Given the description of an element on the screen output the (x, y) to click on. 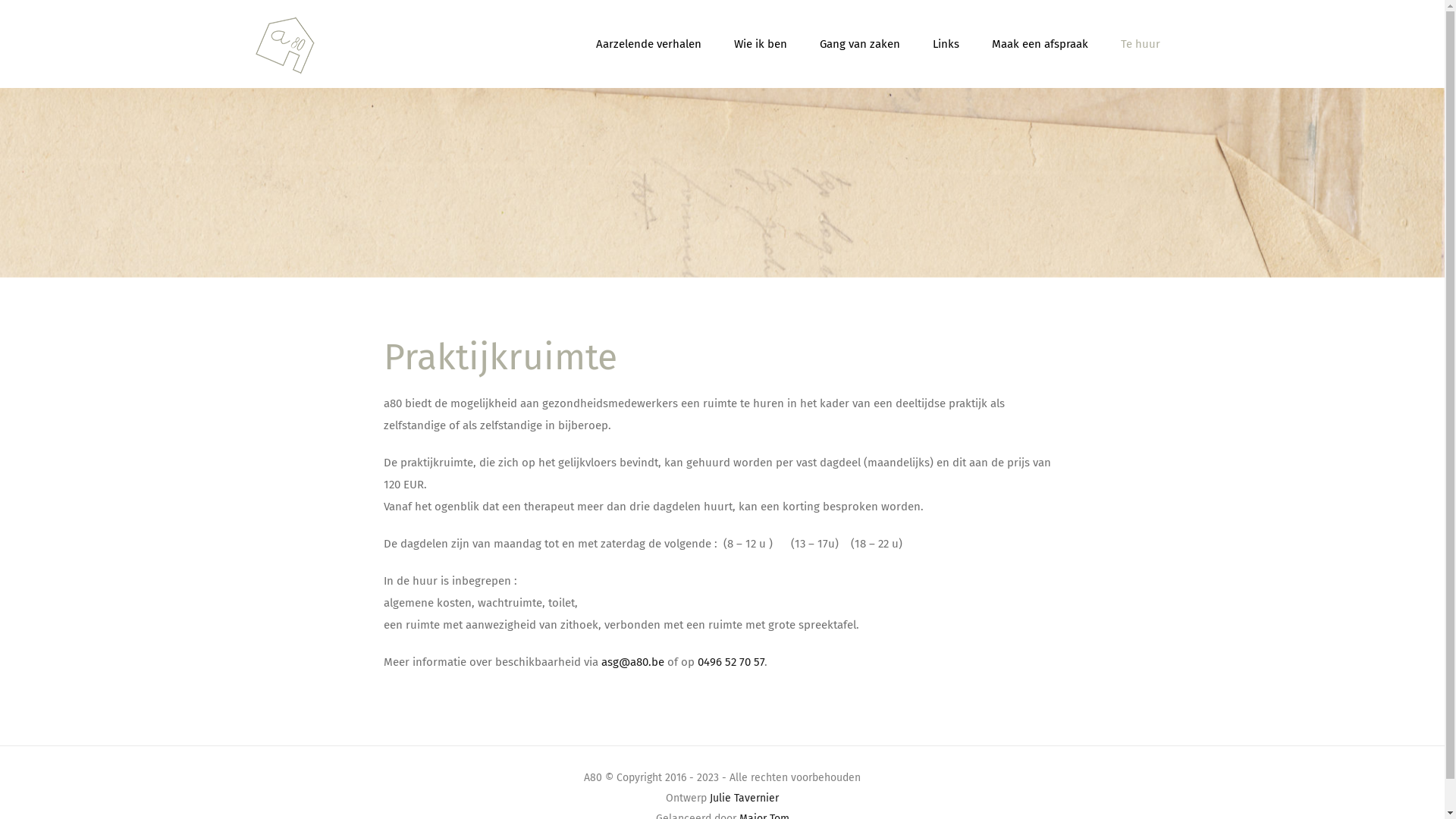
Wie ik ben Element type: text (760, 43)
0496 52 70 57 Element type: text (730, 661)
Maak een afspraak Element type: text (1039, 43)
asg@a80.be Element type: text (632, 661)
Links Element type: text (945, 43)
Aarzelende verhalen Element type: text (648, 43)
Julie Tavernier Element type: text (743, 797)
Gang van zaken Element type: text (859, 43)
Te huur Element type: text (1140, 43)
